Given the description of an element on the screen output the (x, y) to click on. 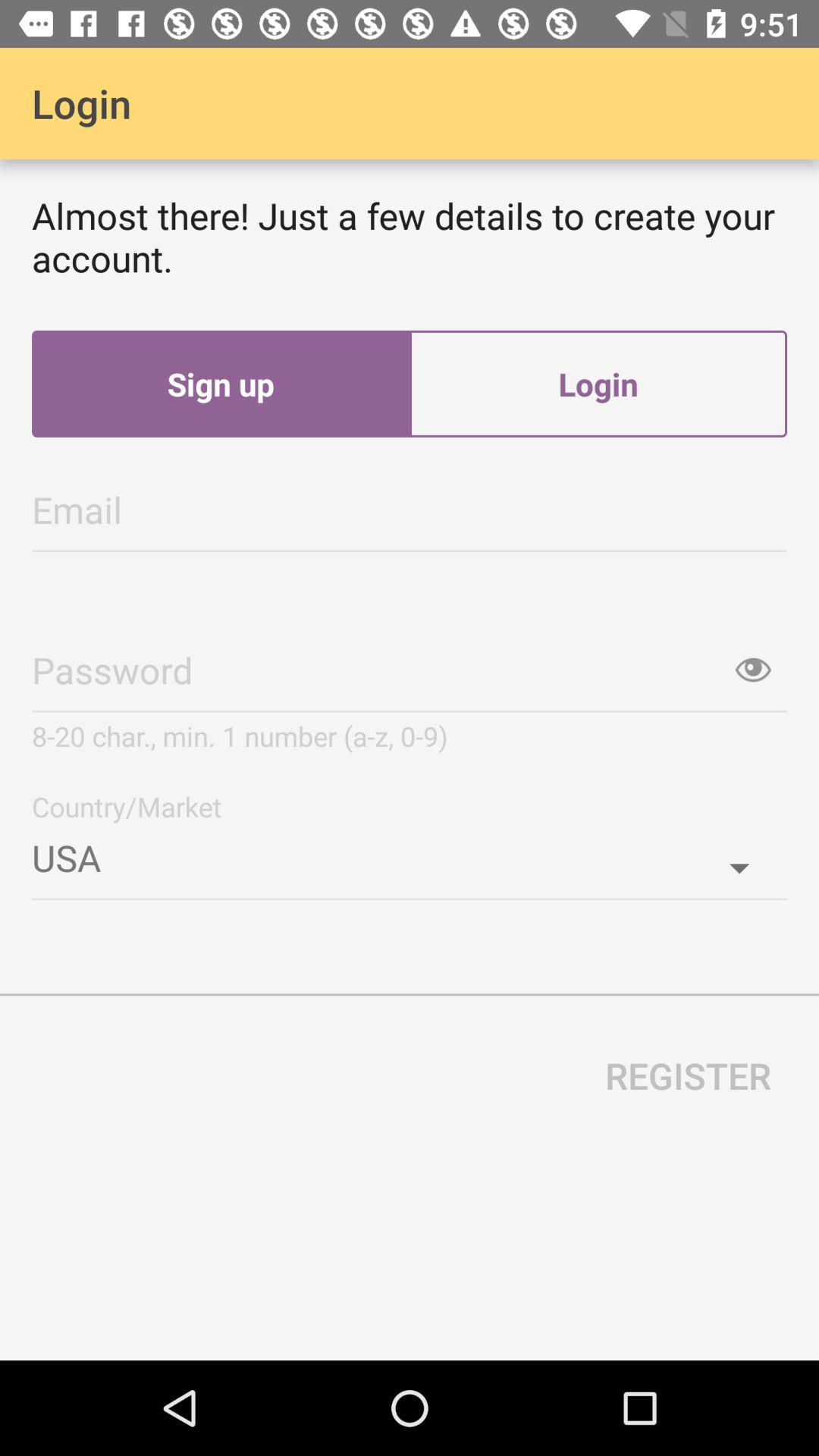
scroll to usa icon (409, 851)
